Given the description of an element on the screen output the (x, y) to click on. 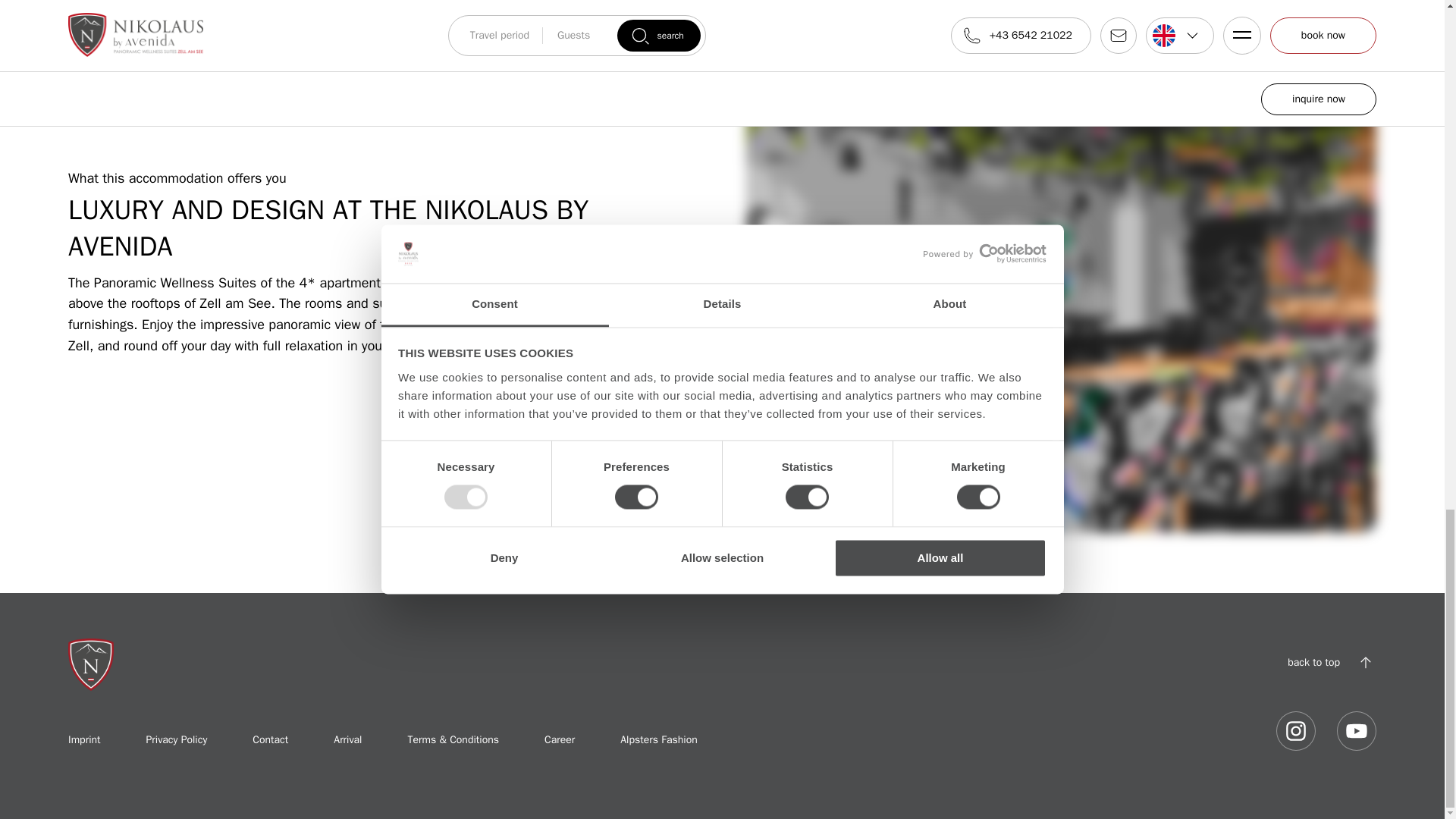
back to top (1331, 662)
